Given the description of an element on the screen output the (x, y) to click on. 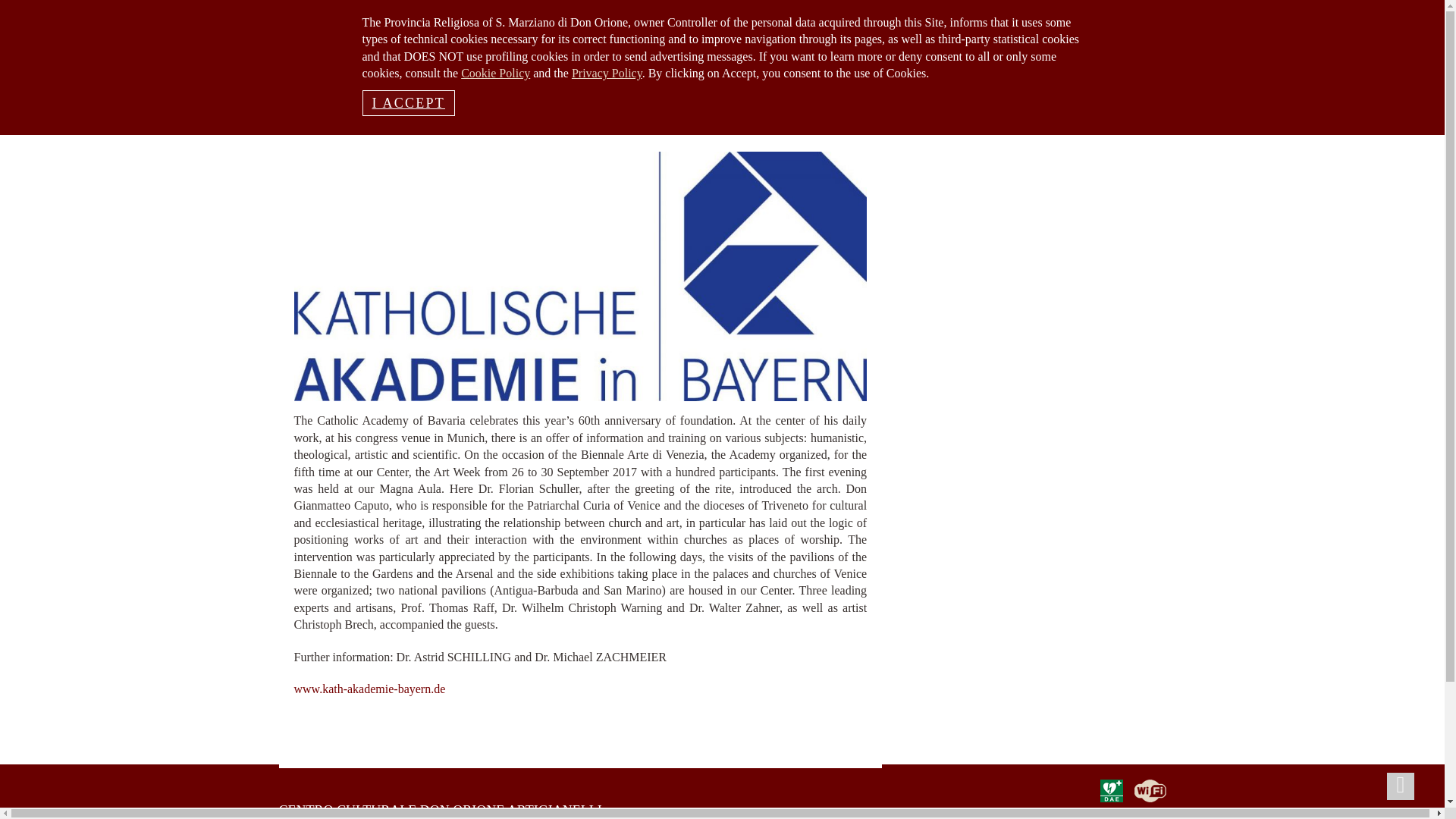
History (479, 122)
Don Luigi Orione (560, 122)
En (363, 20)
Center (639, 122)
RESERVATION (353, 122)
Fr (386, 20)
Home (427, 122)
De (409, 20)
